Given the description of an element on the screen output the (x, y) to click on. 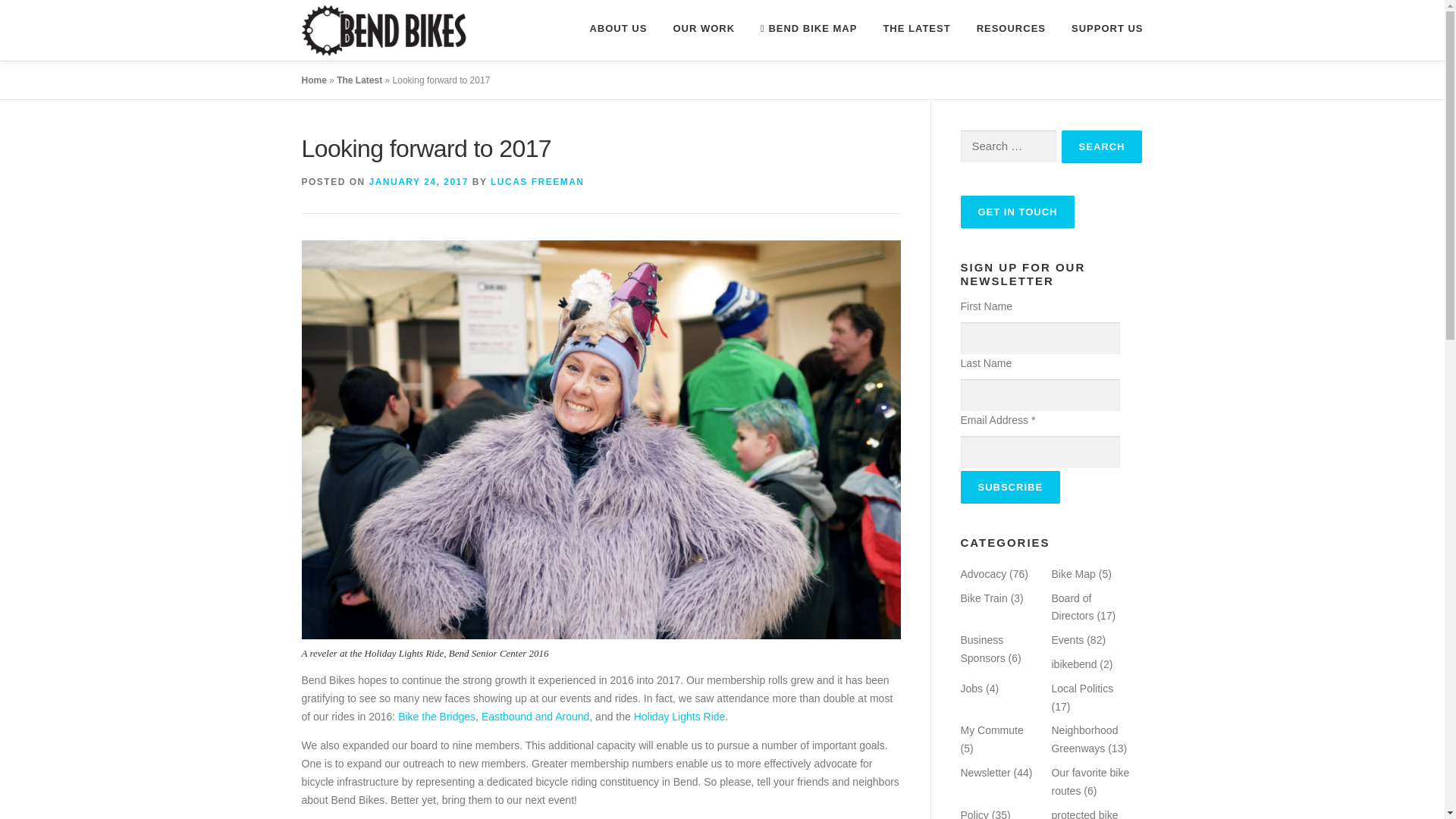
Subscribe (1009, 486)
THE LATEST (915, 28)
LUCAS FREEMAN (537, 181)
Search (1101, 146)
ABOUT US (604, 28)
Advocacy (982, 573)
Bike the Bridges (436, 716)
Holiday Lights Ride (679, 716)
SUPPORT US (1100, 28)
Home (313, 80)
